Given the description of an element on the screen output the (x, y) to click on. 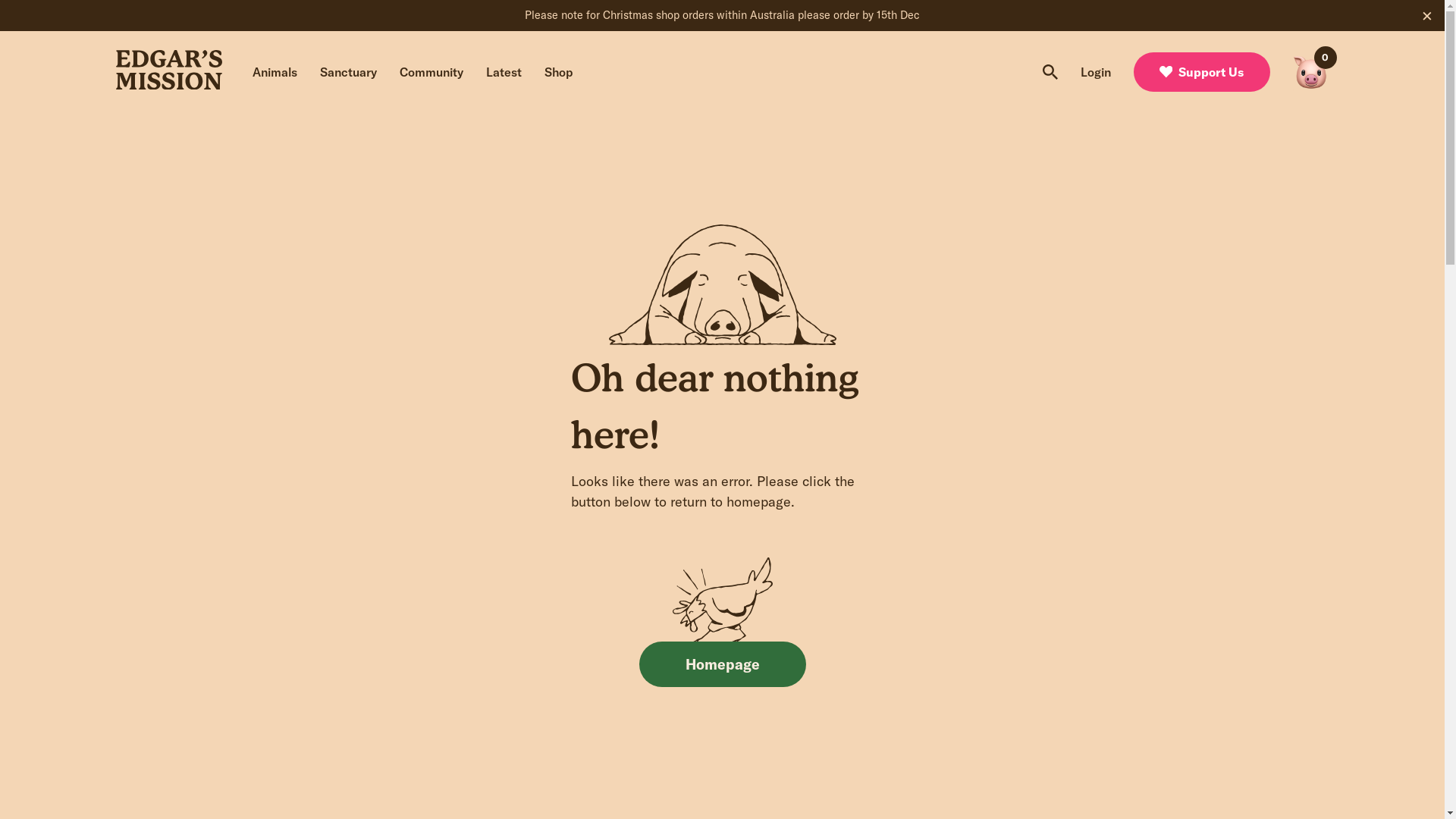
Community Element type: text (430, 71)
Support Us Element type: text (1200, 71)
Login Element type: text (1094, 71)
Latest Element type: text (502, 71)
Animals Element type: text (273, 71)
0 Element type: text (1310, 71)
Shop Element type: text (558, 71)
Homepage Element type: text (721, 664)
Sanctuary Element type: text (348, 71)
